Given the description of an element on the screen output the (x, y) to click on. 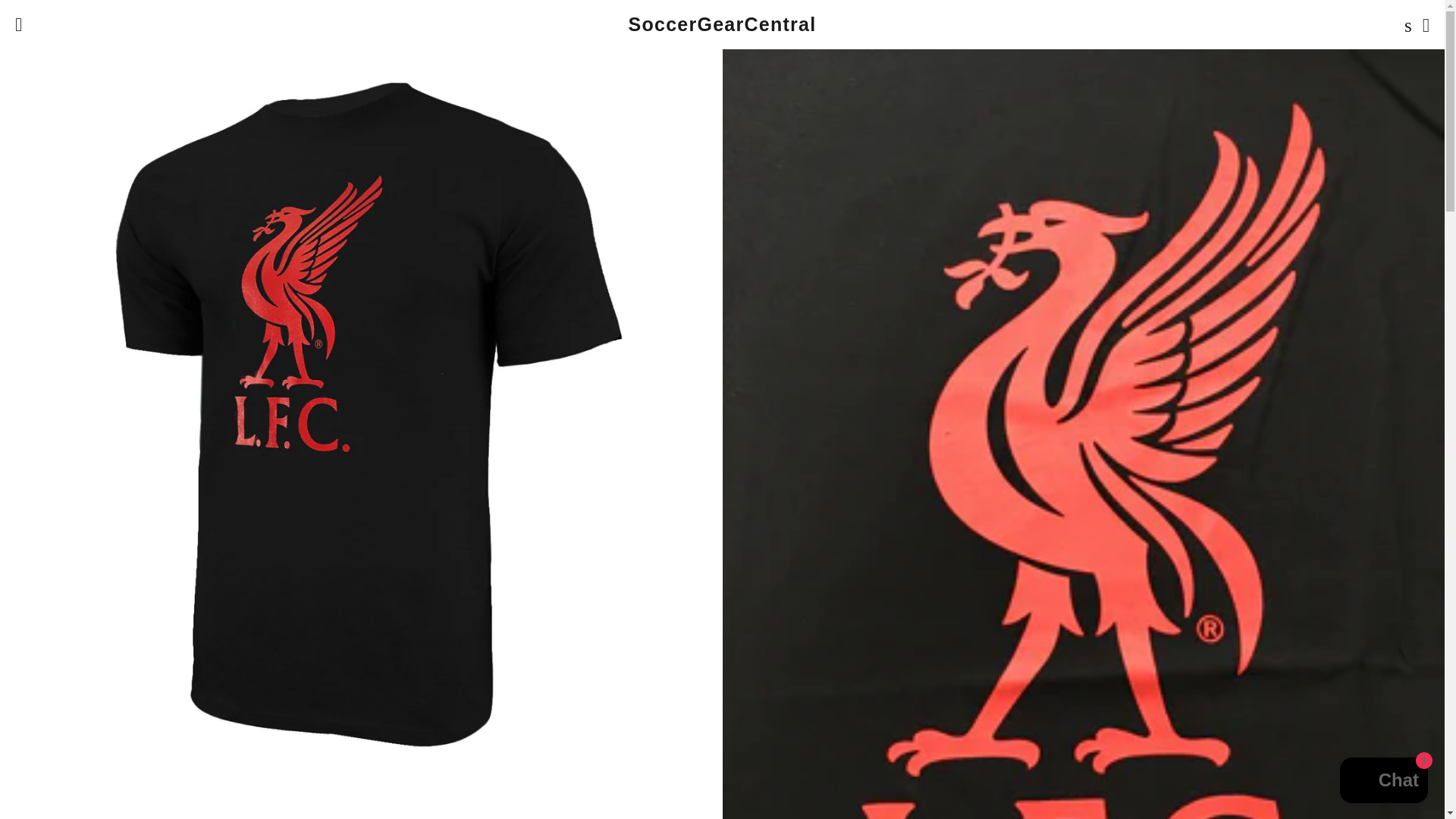
Shopify online store chat (1383, 781)
